Given the description of an element on the screen output the (x, y) to click on. 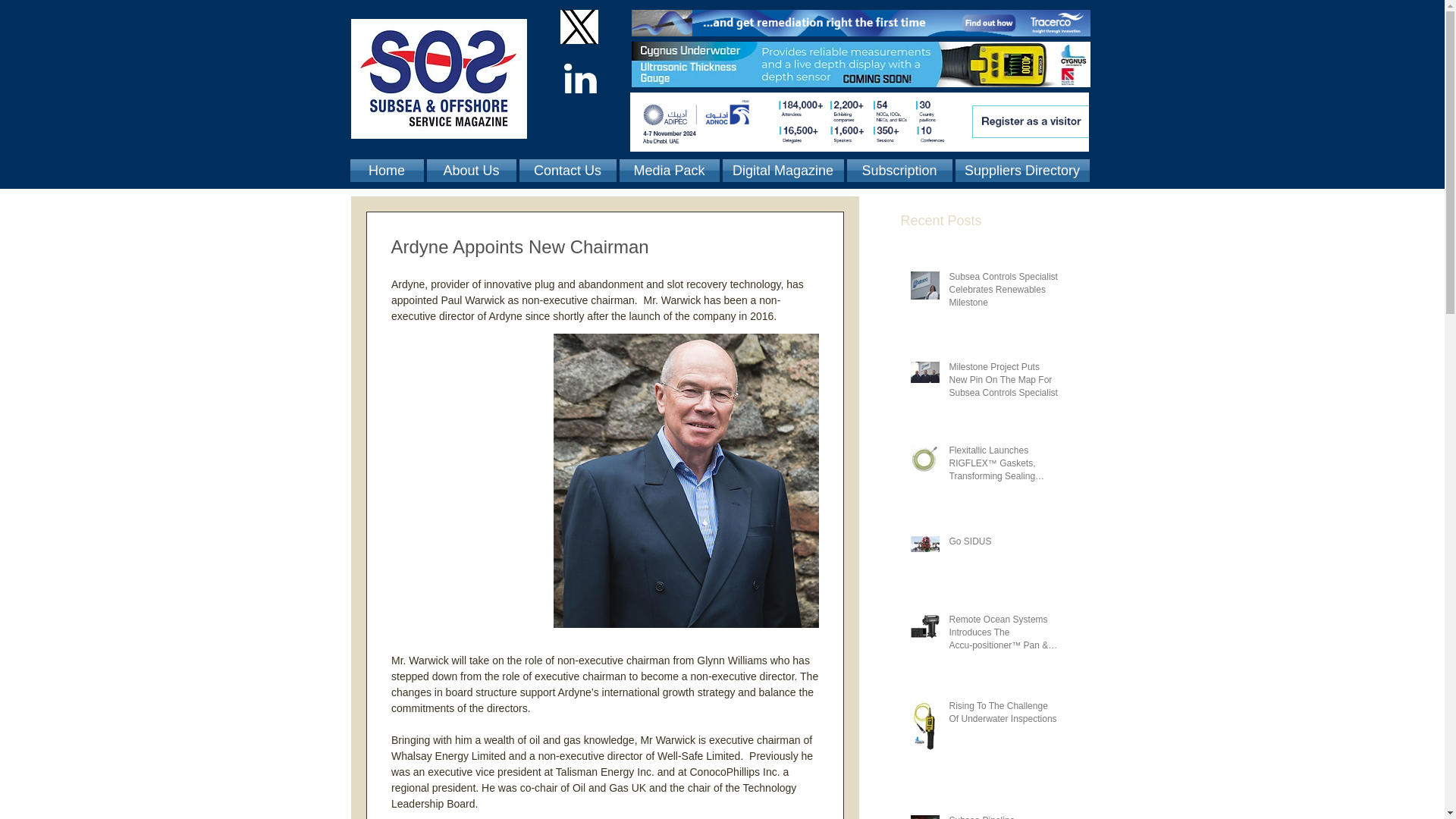
Suppliers Directory (1021, 169)
About Us (470, 169)
Home (387, 169)
Go SIDUS (1003, 544)
Media Pack (668, 169)
Subsea Controls Specialist Celebrates Renewables Milestone (1003, 292)
Digital Magazine (782, 169)
Subscription (898, 169)
